Given the description of an element on the screen output the (x, y) to click on. 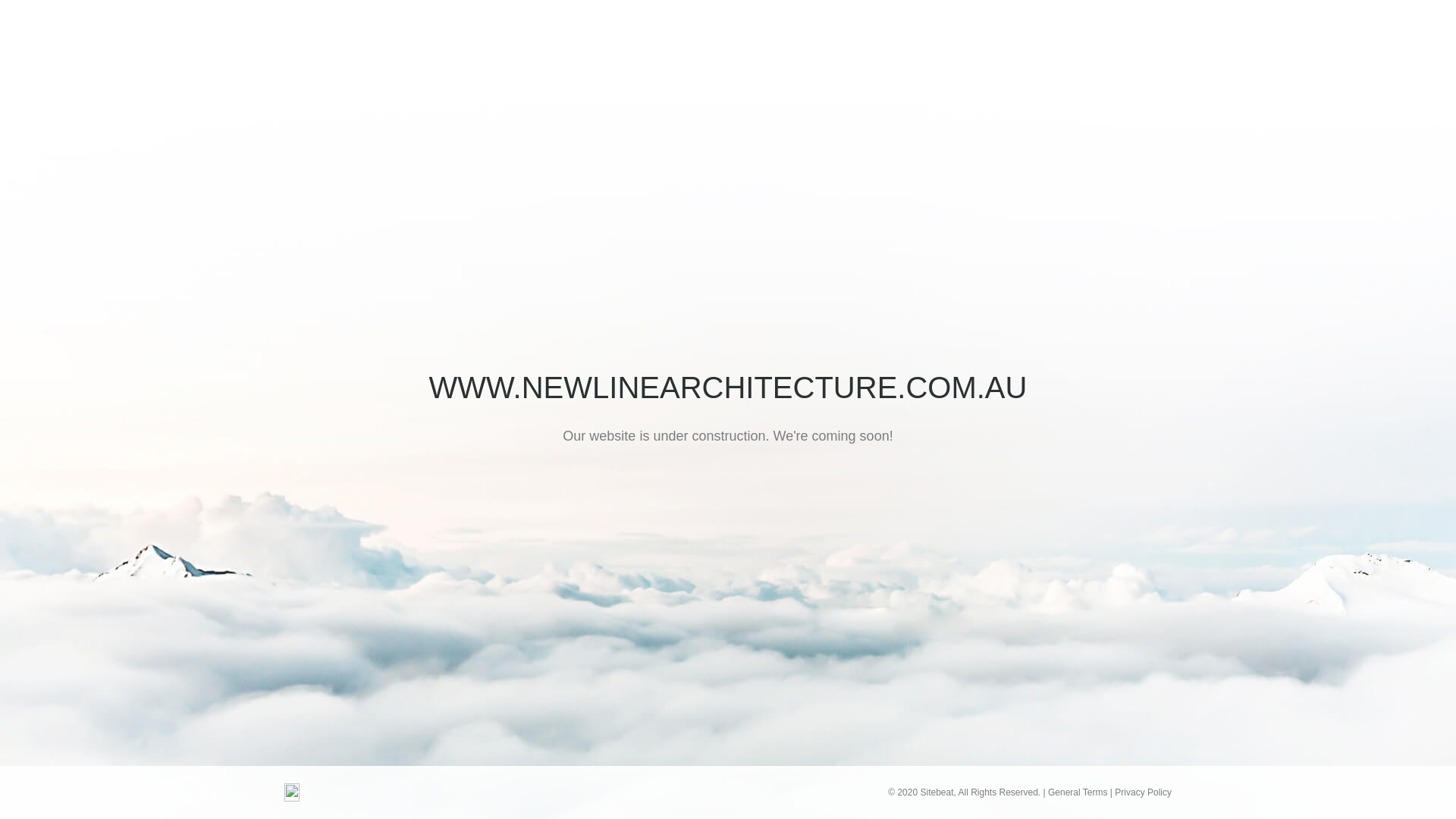
Privacy Policy Element type: text (1142, 792)
General Terms Element type: text (1077, 792)
